Given the description of an element on the screen output the (x, y) to click on. 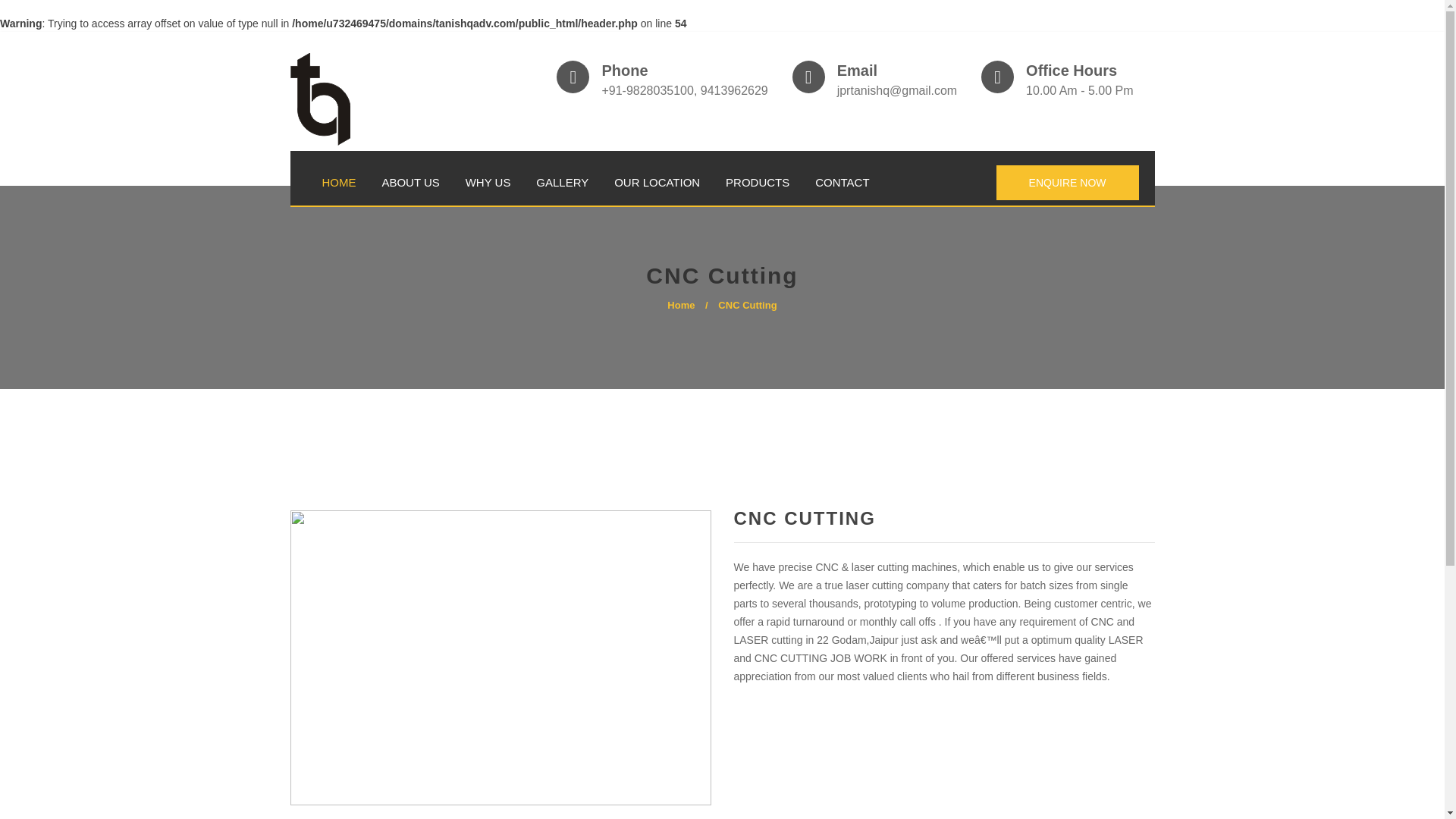
OUR LOCATION (657, 182)
ENQUIRE NOW (1066, 182)
ABOUT US (410, 182)
Home (680, 305)
PRODUCTS (757, 182)
